Given the description of an element on the screen output the (x, y) to click on. 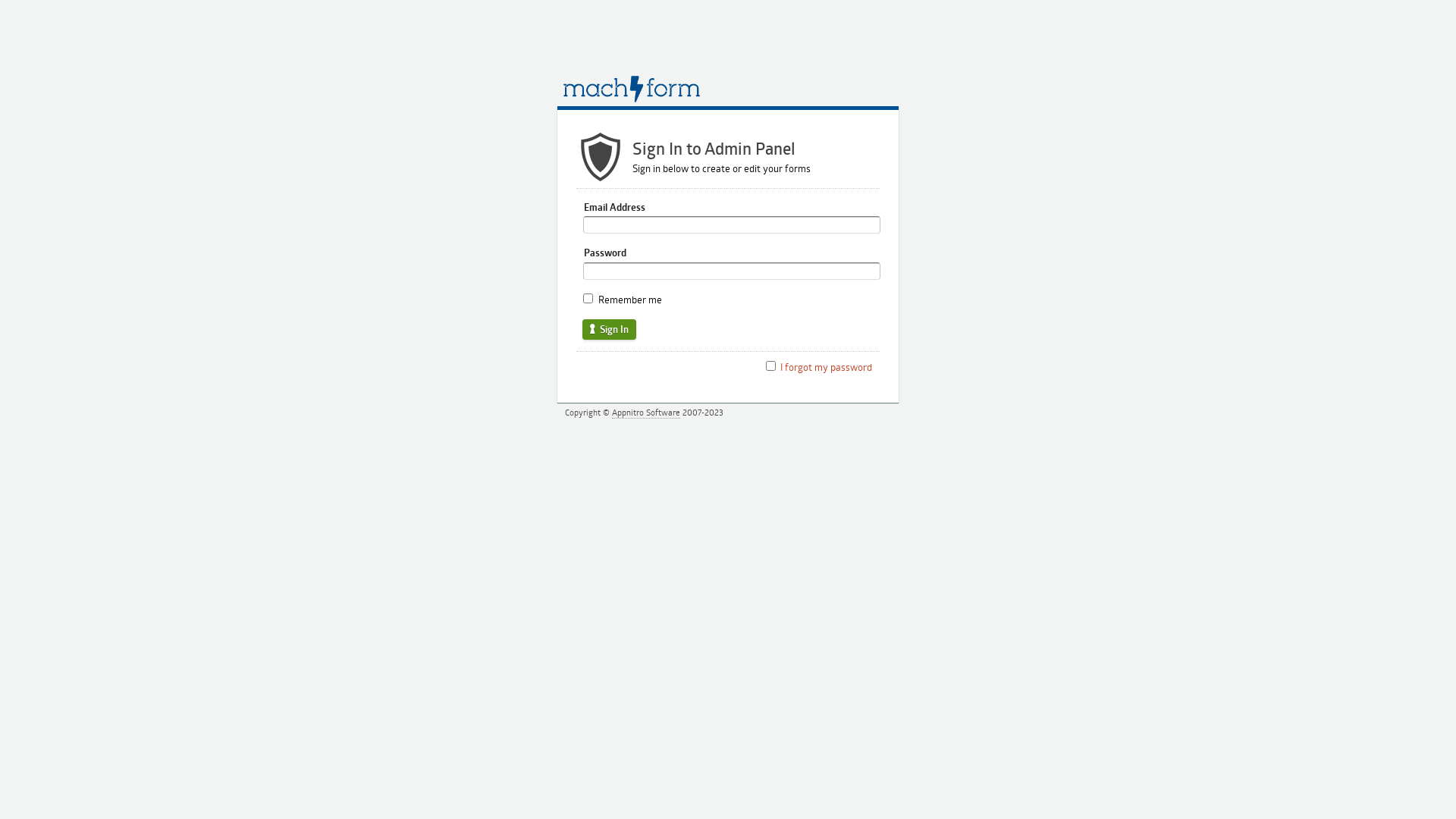
Appnitro Software Element type: text (645, 412)
Sign In Element type: text (609, 329)
